Given the description of an element on the screen output the (x, y) to click on. 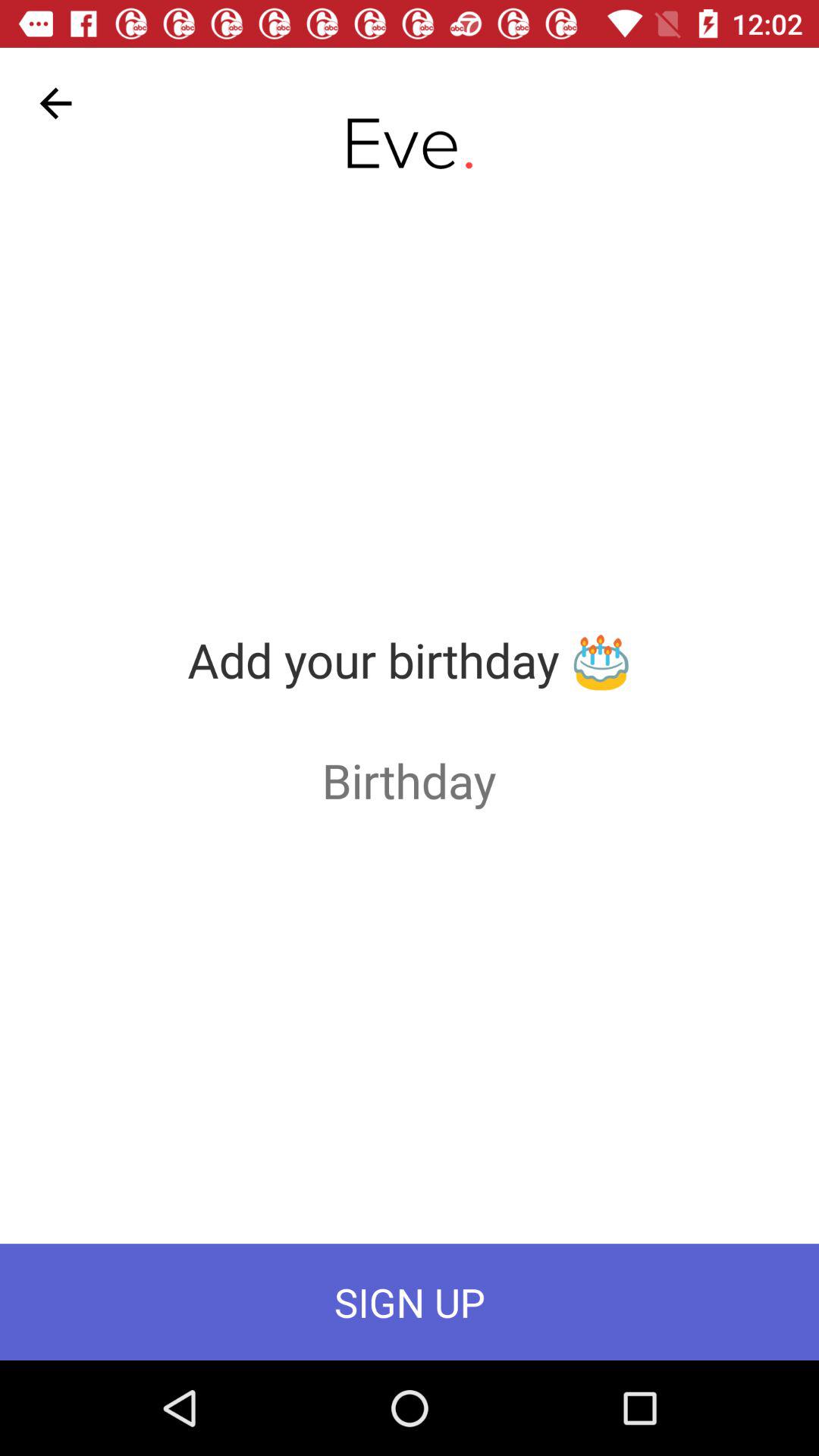
select the item at the top left corner (55, 103)
